Given the description of an element on the screen output the (x, y) to click on. 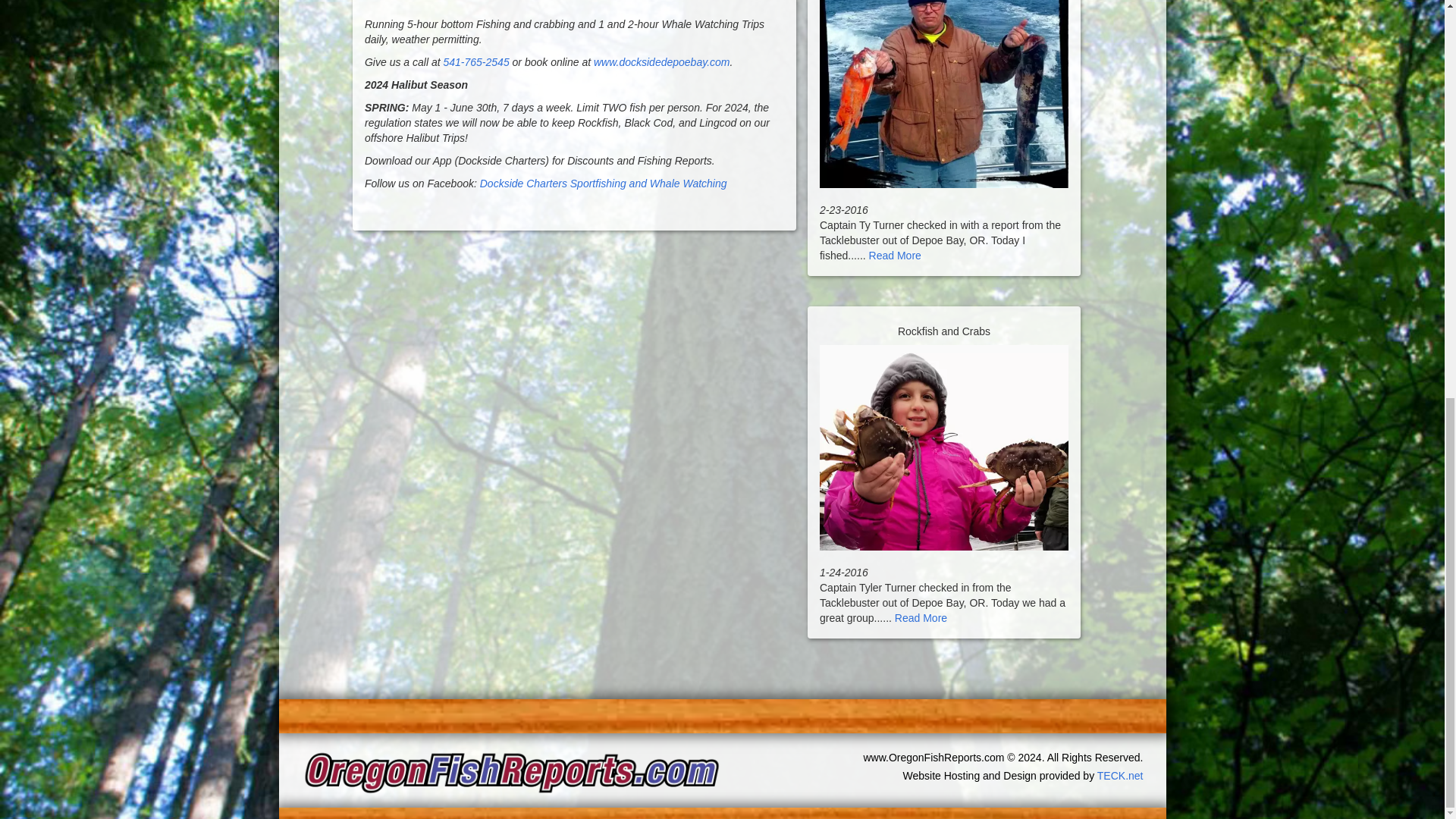
Read More (921, 617)
Read More (895, 255)
Dockside Charters Sportfishing and Whale Watching (603, 183)
541-765-2545 (475, 61)
TECK.net (1119, 775)
www.docksidedepoebay.com (662, 61)
